Given the description of an element on the screen output the (x, y) to click on. 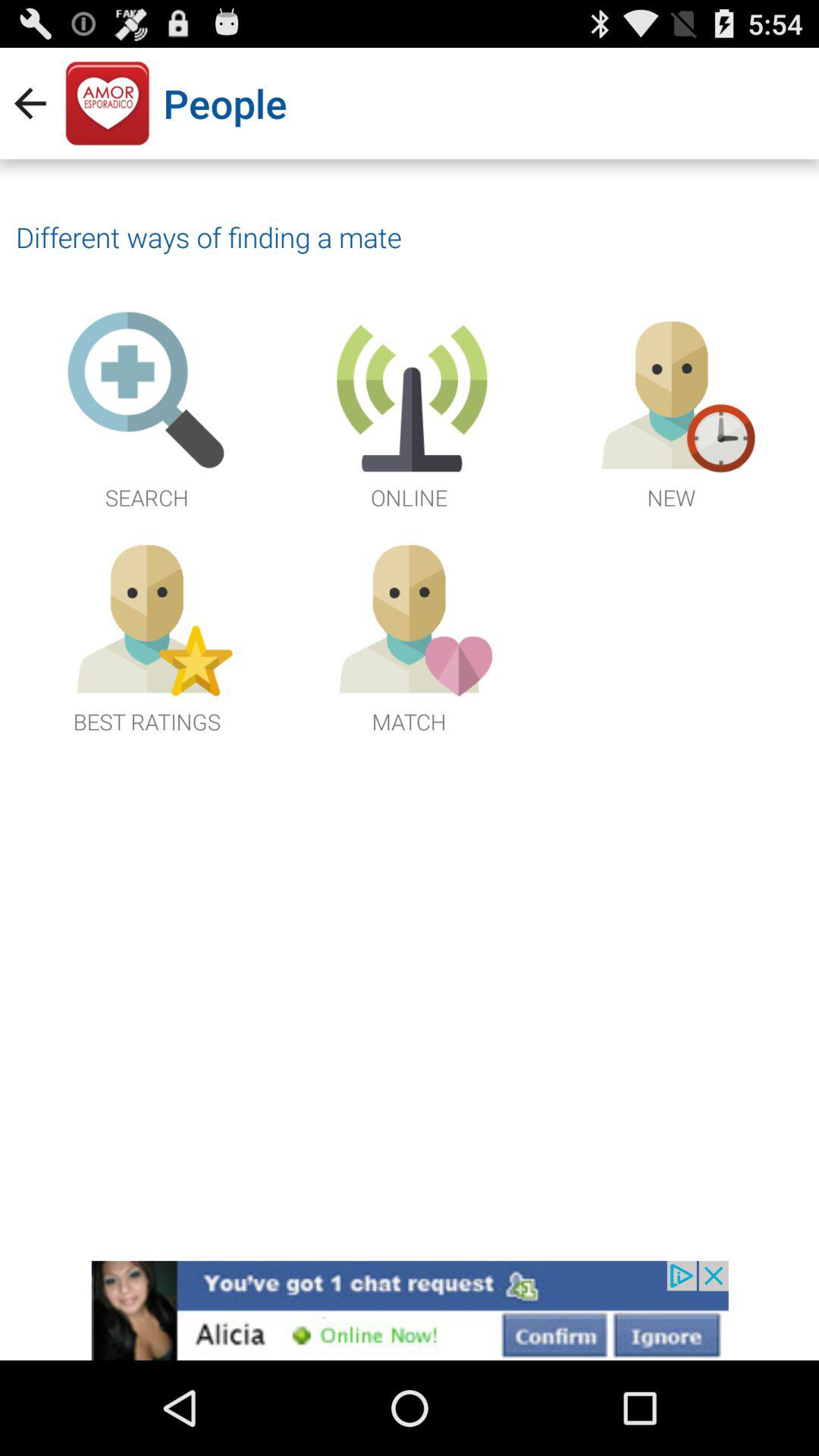
open advertisement (409, 1310)
